Given the description of an element on the screen output the (x, y) to click on. 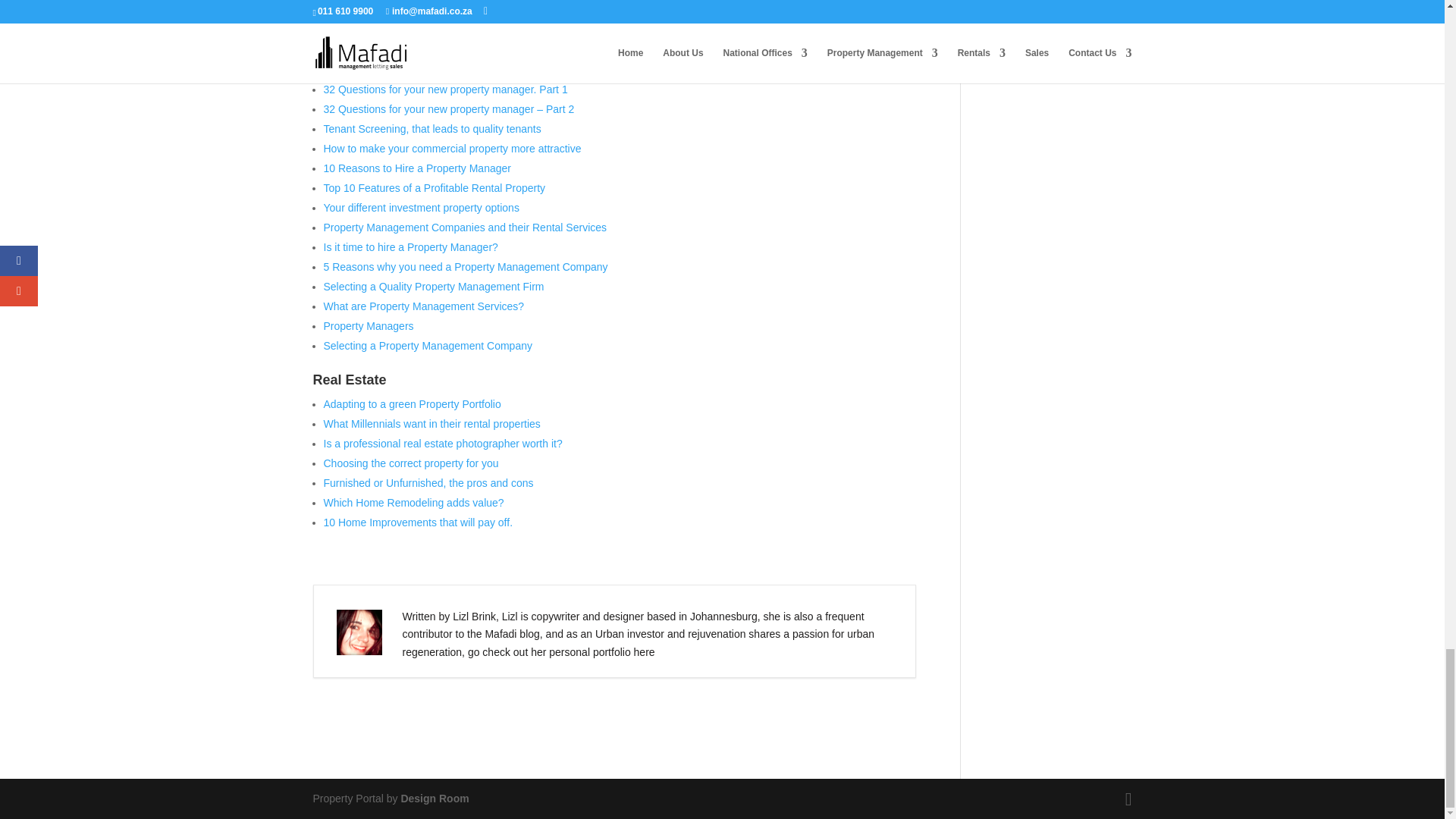
Design Room (434, 798)
